Given the description of an element on the screen output the (x, y) to click on. 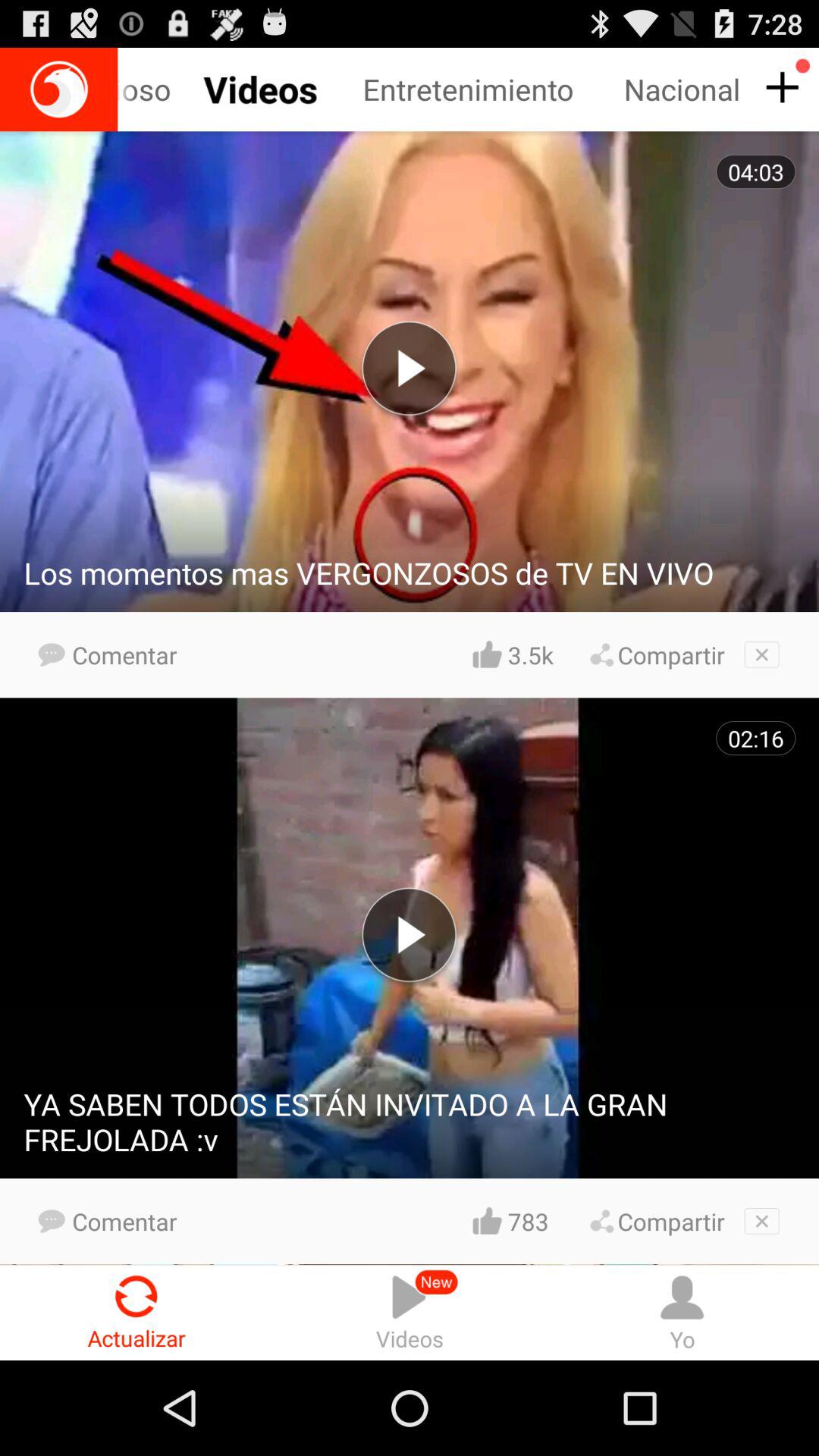
turn off icon above the videos item (530, 1221)
